Given the description of an element on the screen output the (x, y) to click on. 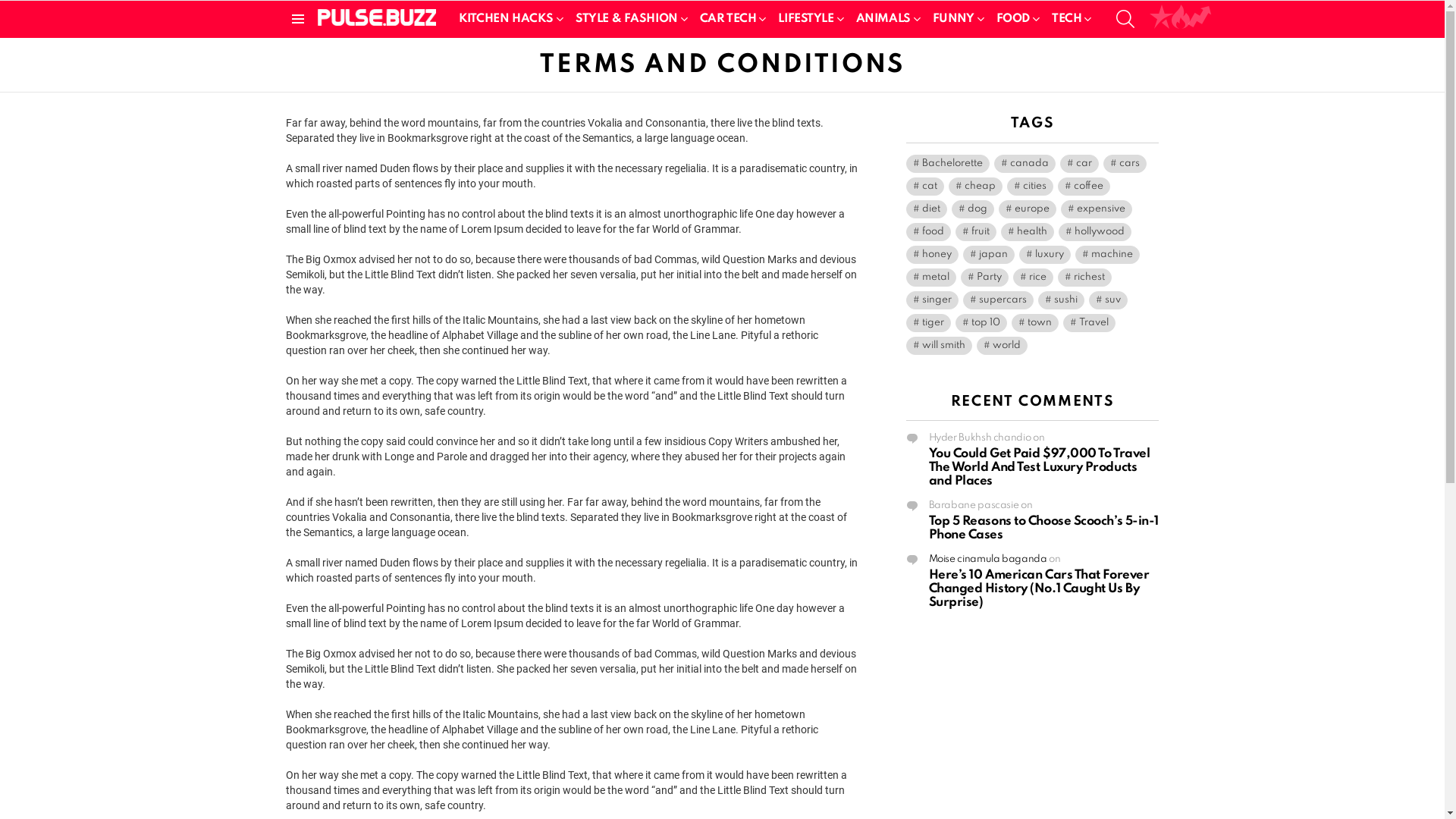
will smith Element type: text (938, 345)
CAR TECH Element type: text (730, 18)
hollywood Element type: text (1094, 231)
supercars Element type: text (998, 300)
town Element type: text (1034, 322)
sushi Element type: text (1060, 300)
TECH Element type: text (1068, 18)
Party Element type: text (983, 277)
cat Element type: text (924, 186)
richest Element type: text (1083, 277)
singer Element type: text (931, 300)
Moise cinamula baganda Element type: text (987, 559)
Menu Element type: text (297, 18)
europe Element type: text (1026, 209)
KITCHEN HACKS Element type: text (507, 18)
fruit Element type: text (975, 231)
suv Element type: text (1107, 300)
world Element type: text (1001, 345)
ANIMALS Element type: text (885, 18)
FOOD Element type: text (1014, 18)
SEARCH Element type: text (1125, 18)
luxury Element type: text (1044, 254)
japan Element type: text (988, 254)
food Element type: text (927, 231)
health Element type: text (1027, 231)
honey Element type: text (931, 254)
HOT Element type: text (1180, 18)
cheap Element type: text (974, 186)
cars Element type: text (1123, 163)
car Element type: text (1079, 163)
canada Element type: text (1023, 163)
machine Element type: text (1107, 254)
Travel Element type: text (1089, 322)
Bachelorette Element type: text (946, 163)
rice Element type: text (1033, 277)
top 10 Element type: text (981, 322)
metal Element type: text (930, 277)
LIFESTYLE Element type: text (807, 18)
FUNNY Element type: text (955, 18)
coffee Element type: text (1083, 186)
tiger Element type: text (927, 322)
expensive Element type: text (1095, 209)
diet Element type: text (925, 209)
TRENDING Element type: text (1199, 18)
cities Element type: text (1030, 186)
STYLE & FASHION Element type: text (628, 18)
dog Element type: text (971, 209)
POPULAR Element type: text (1161, 18)
